Given the description of an element on the screen output the (x, y) to click on. 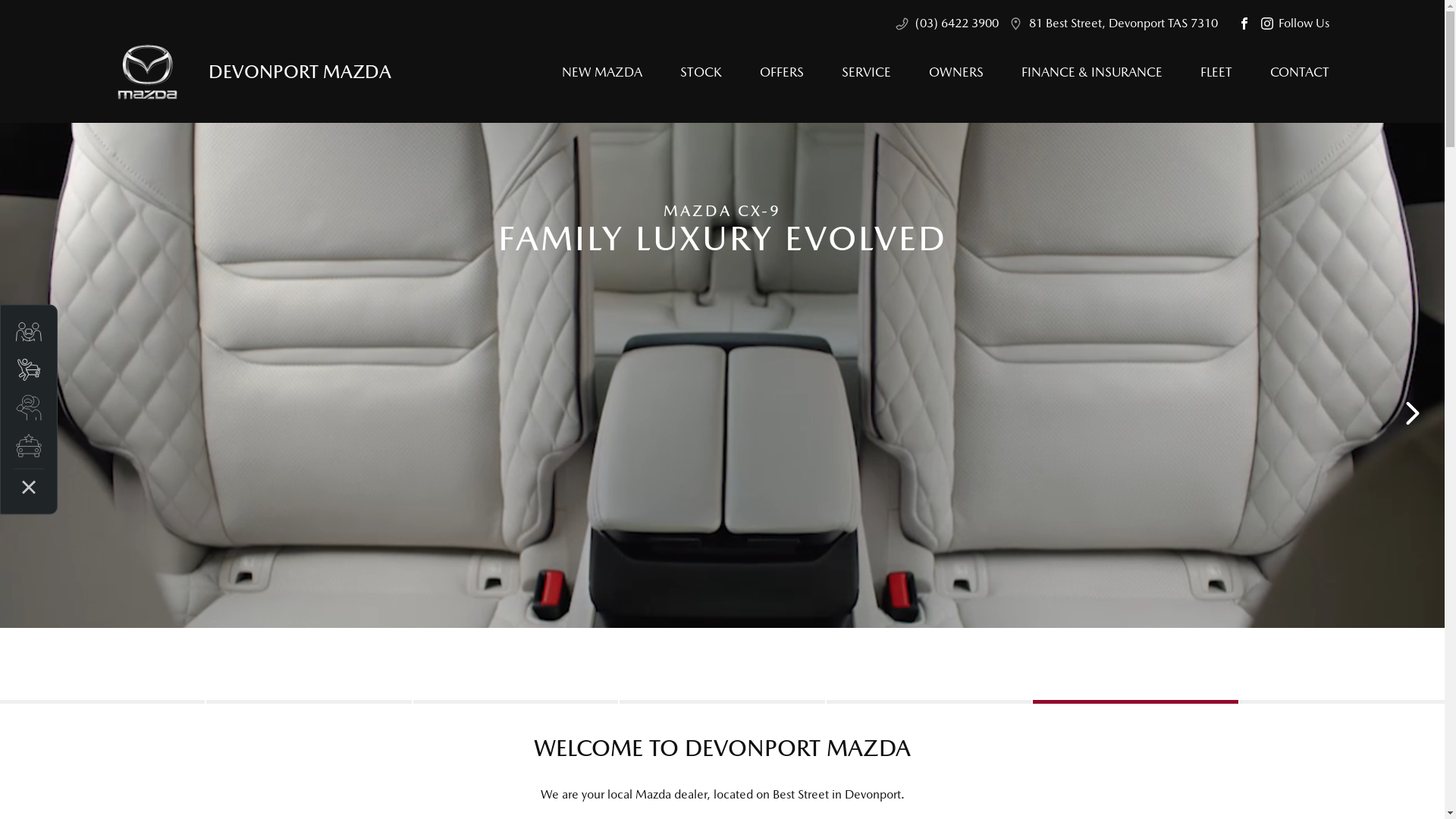
(03) 6422 3900 Element type: text (955, 23)
OFFERS Element type: text (781, 71)
OWNERS Element type: text (956, 71)
STOCK Element type: text (700, 71)
CONTACT Element type: text (1290, 71)
DEVONPORT MAZDA Element type: text (252, 71)
NEW MAZDA Element type: text (601, 71)
SERVICE Element type: text (865, 71)
FLEET Element type: text (1216, 71)
81 Best Street, Devonport TAS 7310 Element type: text (1122, 23)
FINANCE & INSURANCE Element type: text (1091, 71)
